Given the description of an element on the screen output the (x, y) to click on. 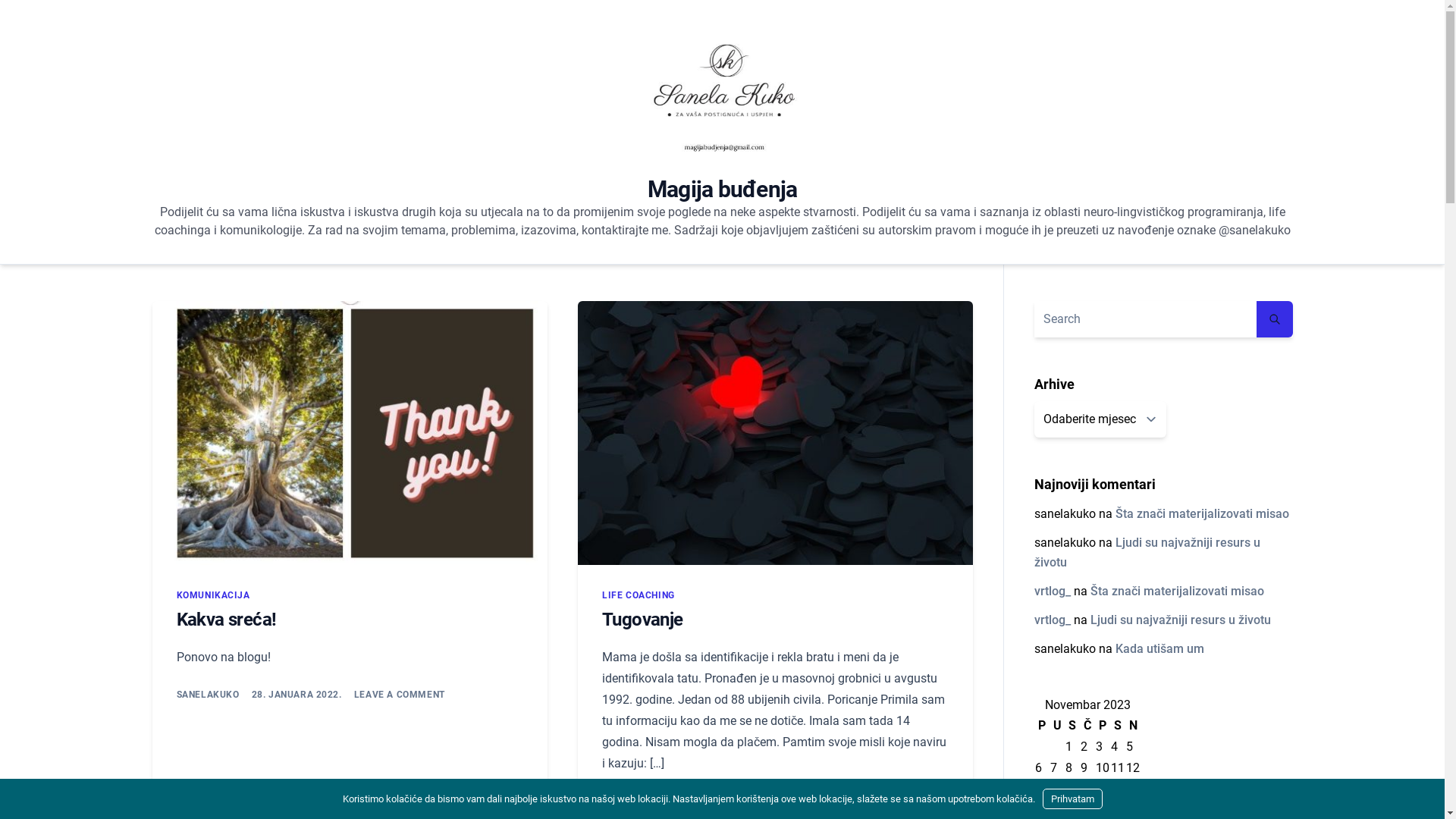
LIFE COACHING Element type: text (638, 595)
Tugovanje Element type: text (642, 619)
LEAVE A COMMENT
ON TUGOVANJE Element type: text (815, 800)
16. APRILA 2022. Element type: text (717, 800)
SANELAKUKO Element type: text (206, 694)
SANELAKUKO Element type: text (633, 800)
vrtlog_ Element type: text (1052, 619)
vrtlog_ Element type: text (1052, 590)
Prihvatam Element type: text (1071, 798)
KOMUNIKACIJA Element type: text (212, 595)
28. JANUARA 2022. Element type: text (296, 694)
